Given the description of an element on the screen output the (x, y) to click on. 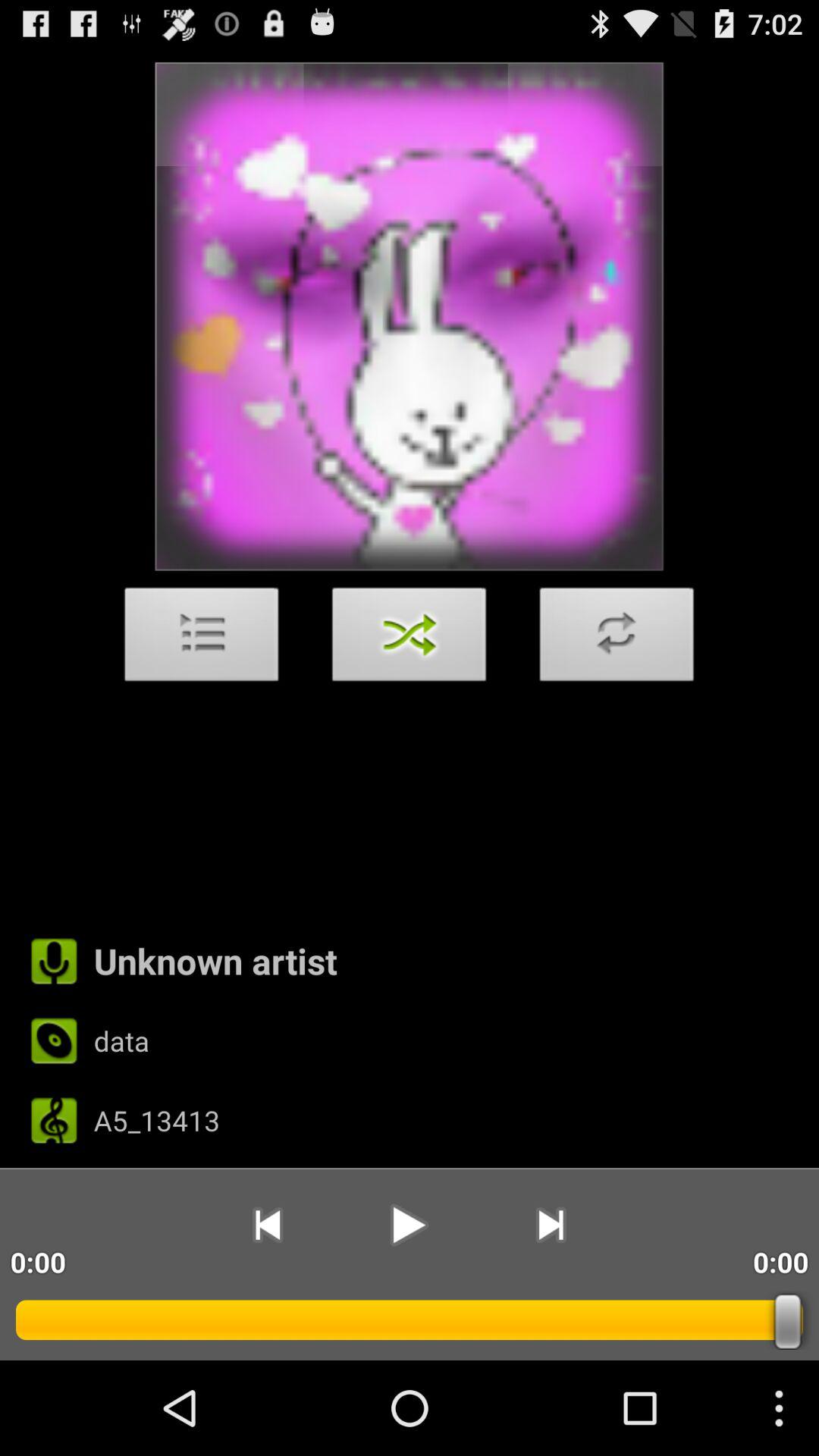
launch the item to the left of the 0:00 item (550, 1224)
